Given the description of an element on the screen output the (x, y) to click on. 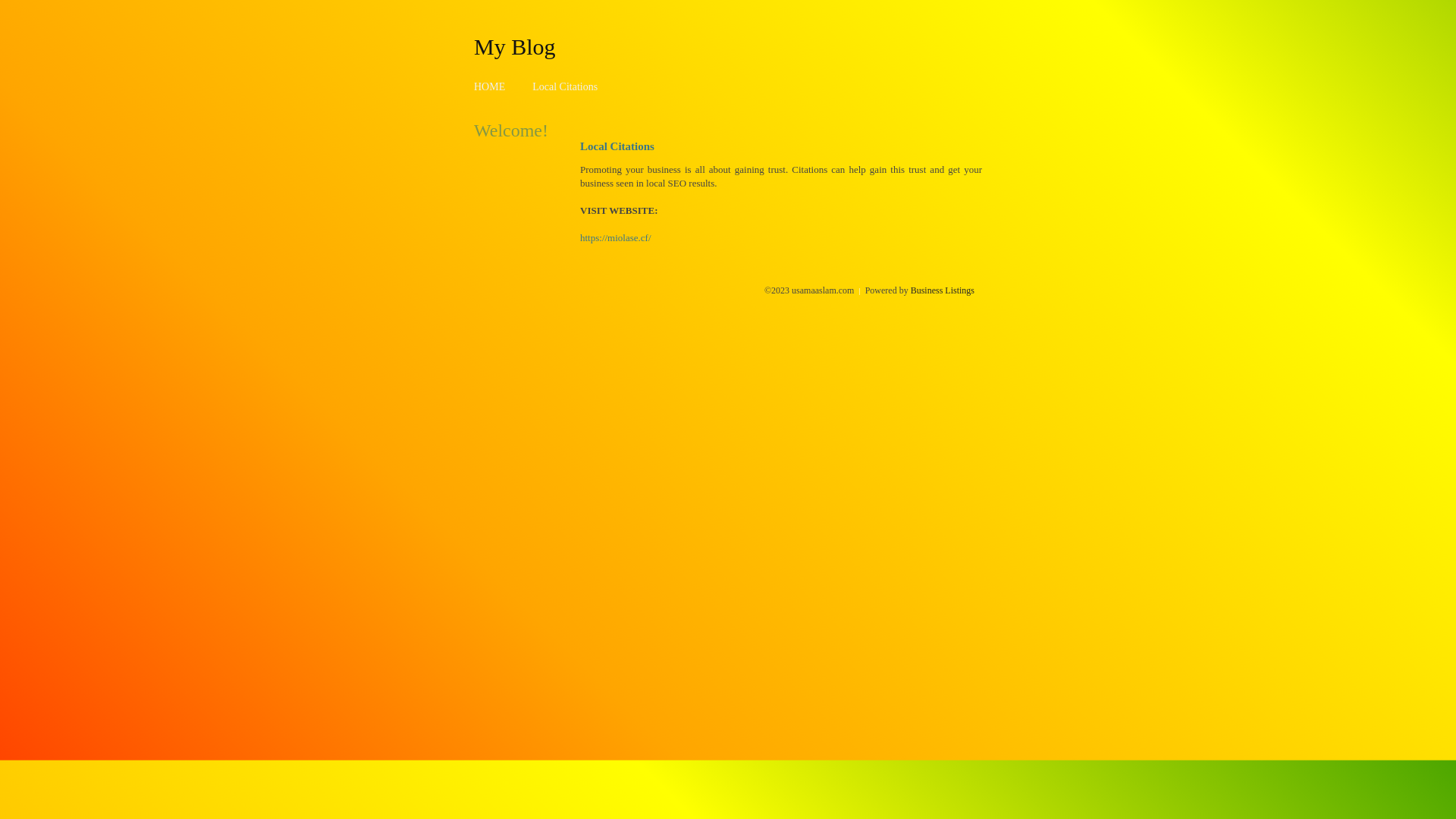
https://miolase.cf/ Element type: text (615, 237)
Business Listings Element type: text (942, 290)
Local Citations Element type: text (564, 86)
My Blog Element type: text (514, 46)
HOME Element type: text (489, 86)
